Given the description of an element on the screen output the (x, y) to click on. 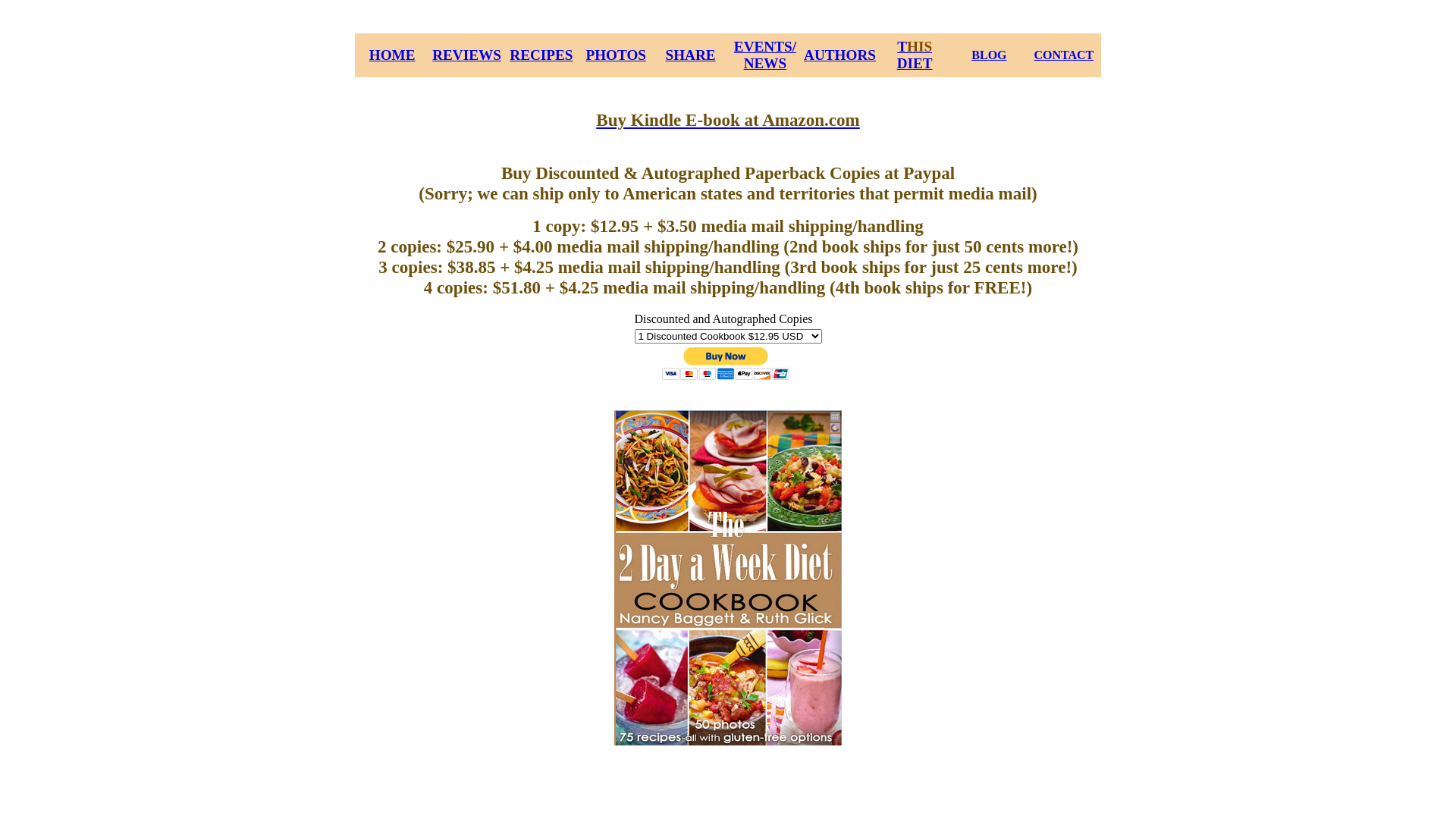
PHOTOS Element type: text (615, 54)
SHARE Element type: text (690, 55)
EVENTS/ Element type: text (765, 46)
HOME Element type: text (392, 54)
BLOG Element type: text (988, 54)
CONTACT Element type: text (1063, 54)
NEWS Element type: text (765, 63)
THIS DIET Element type: text (914, 55)
RECIPES Element type: text (540, 55)
REVIEWS Element type: text (466, 54)
AUTHORS Element type: text (839, 54)
Buy Kindle E-book at Amazon.com Element type: text (727, 119)
